Given the description of an element on the screen output the (x, y) to click on. 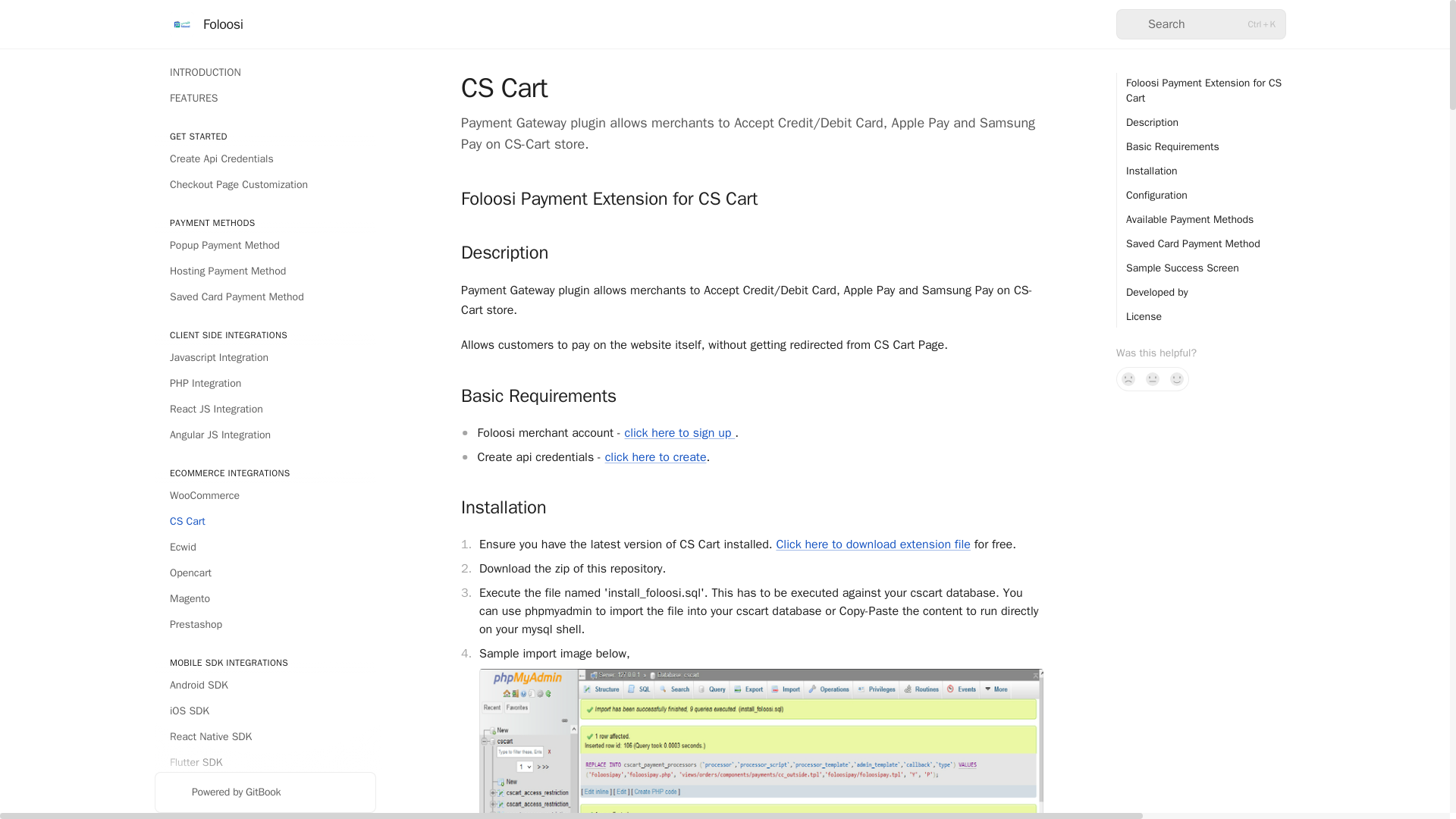
Android SDK (264, 685)
Not sure (1152, 378)
Angular JS Integration (264, 435)
Foloosi (206, 24)
Javascript Integration (264, 357)
Hosting Payment Method (264, 271)
INTRODUCTION (264, 72)
WooCommerce (264, 495)
Prestashop (264, 624)
Saved Card Payment Method (264, 297)
